Given the description of an element on the screen output the (x, y) to click on. 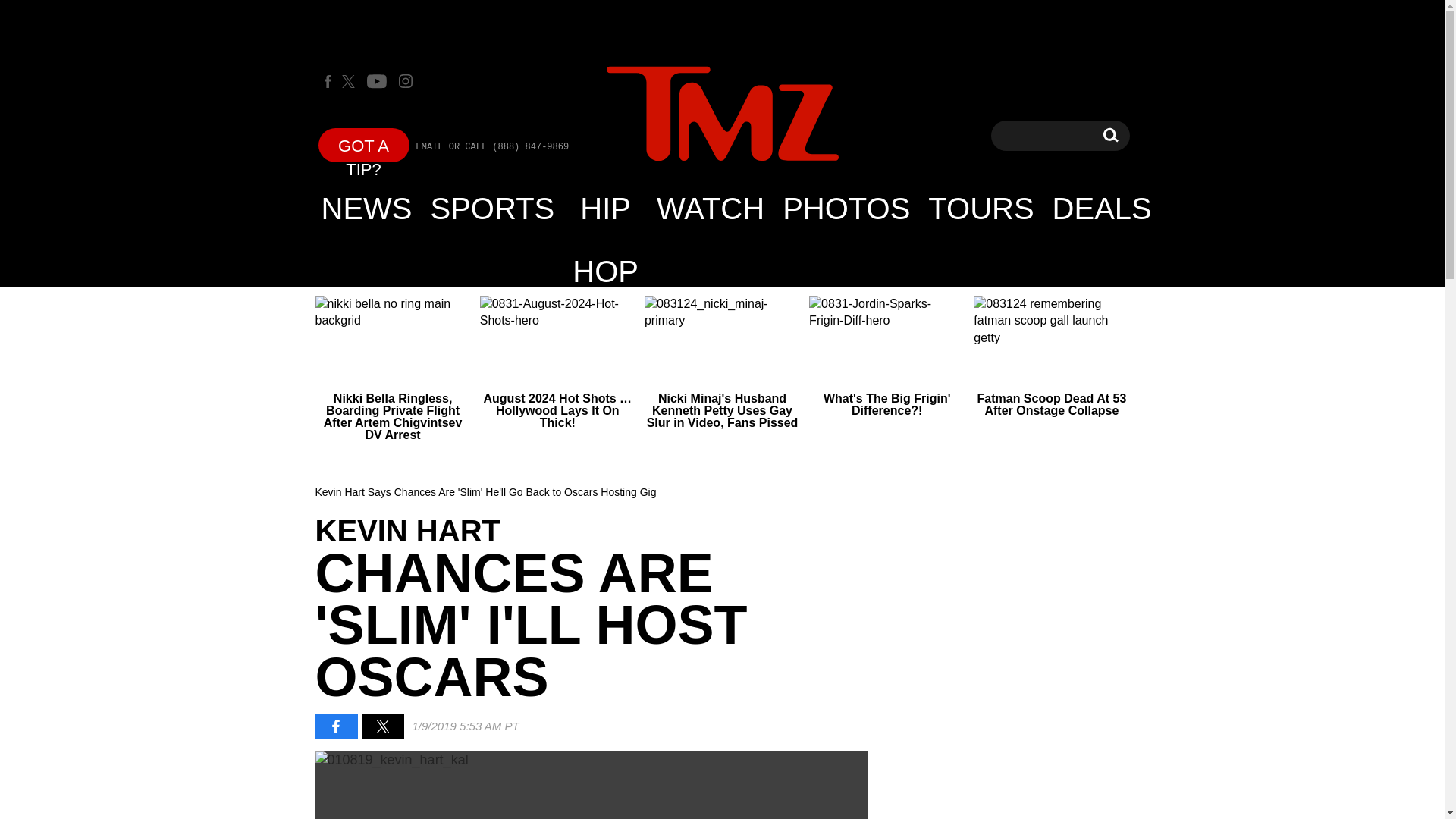
NEWS (367, 207)
WATCH (710, 207)
SPORTS (493, 207)
DEALS (1101, 207)
TOURS (980, 207)
PHOTOS (845, 207)
TMZ (722, 113)
Search (1110, 134)
HIP HOP (1110, 135)
